Given the description of an element on the screen output the (x, y) to click on. 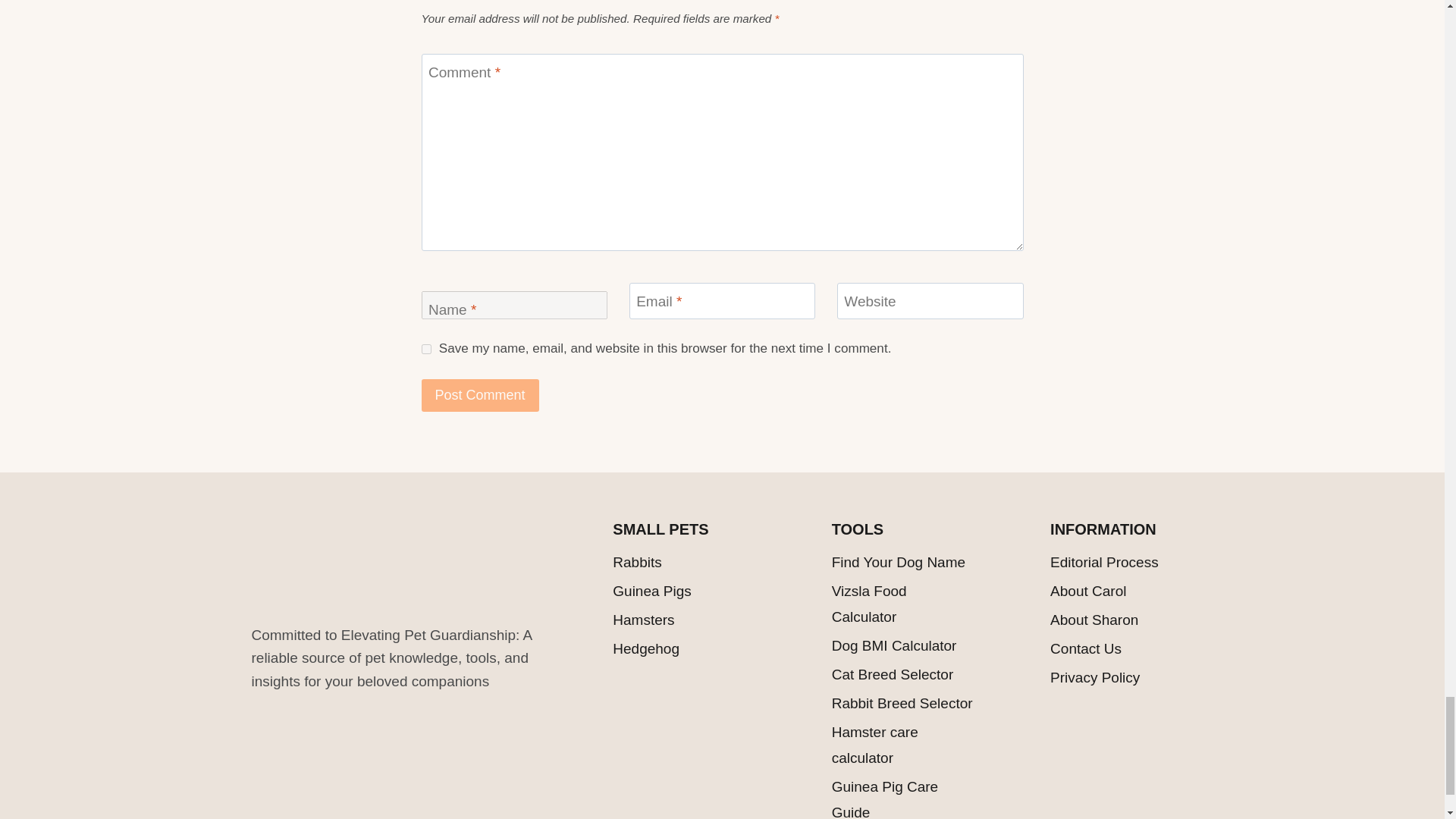
Post Comment (480, 395)
yes (426, 348)
